Given the description of an element on the screen output the (x, y) to click on. 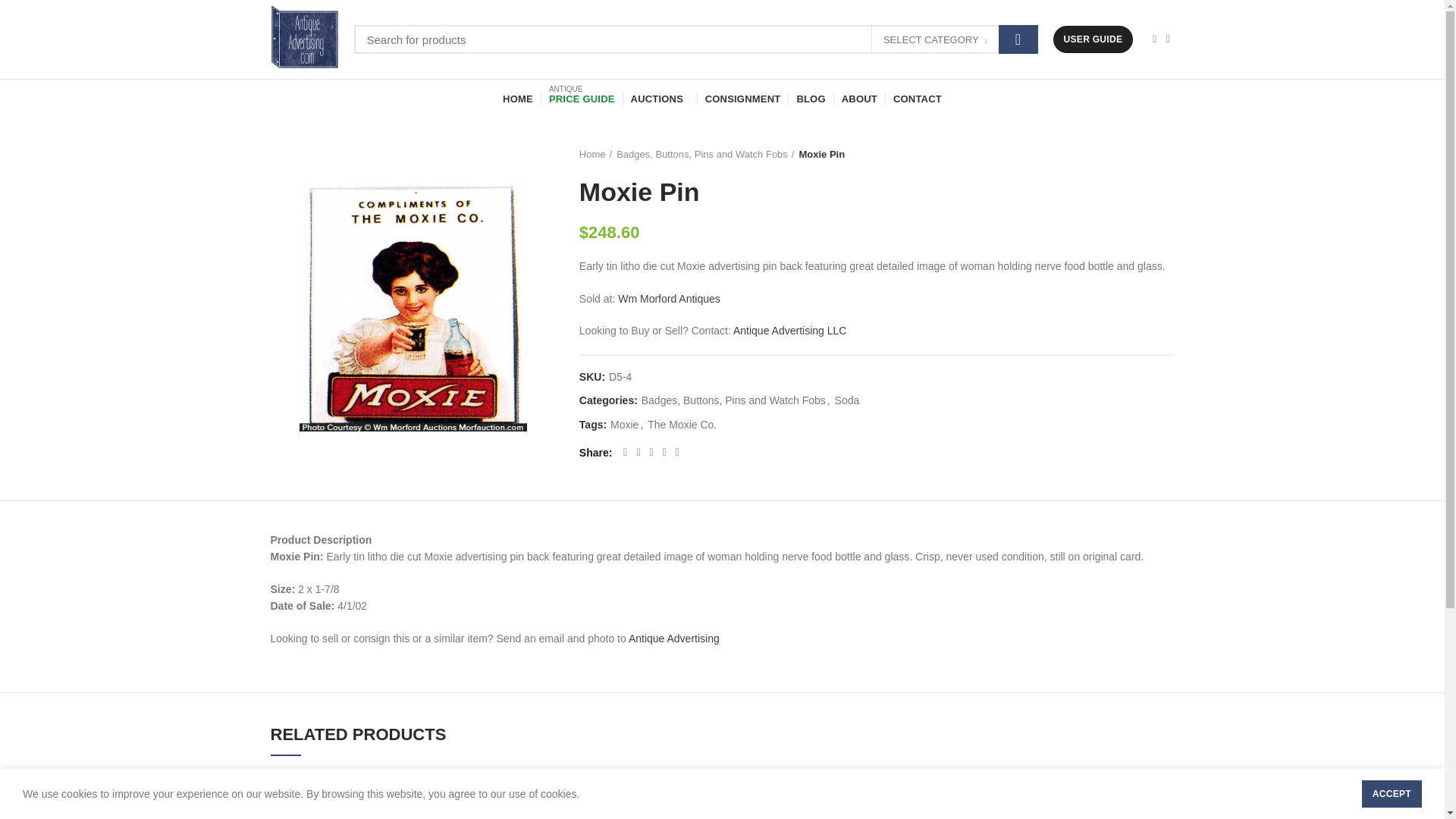
SELECT CATEGORY (935, 40)
Moxie Pin (412, 304)
SELECT CATEGORY (934, 39)
